Given the description of an element on the screen output the (x, y) to click on. 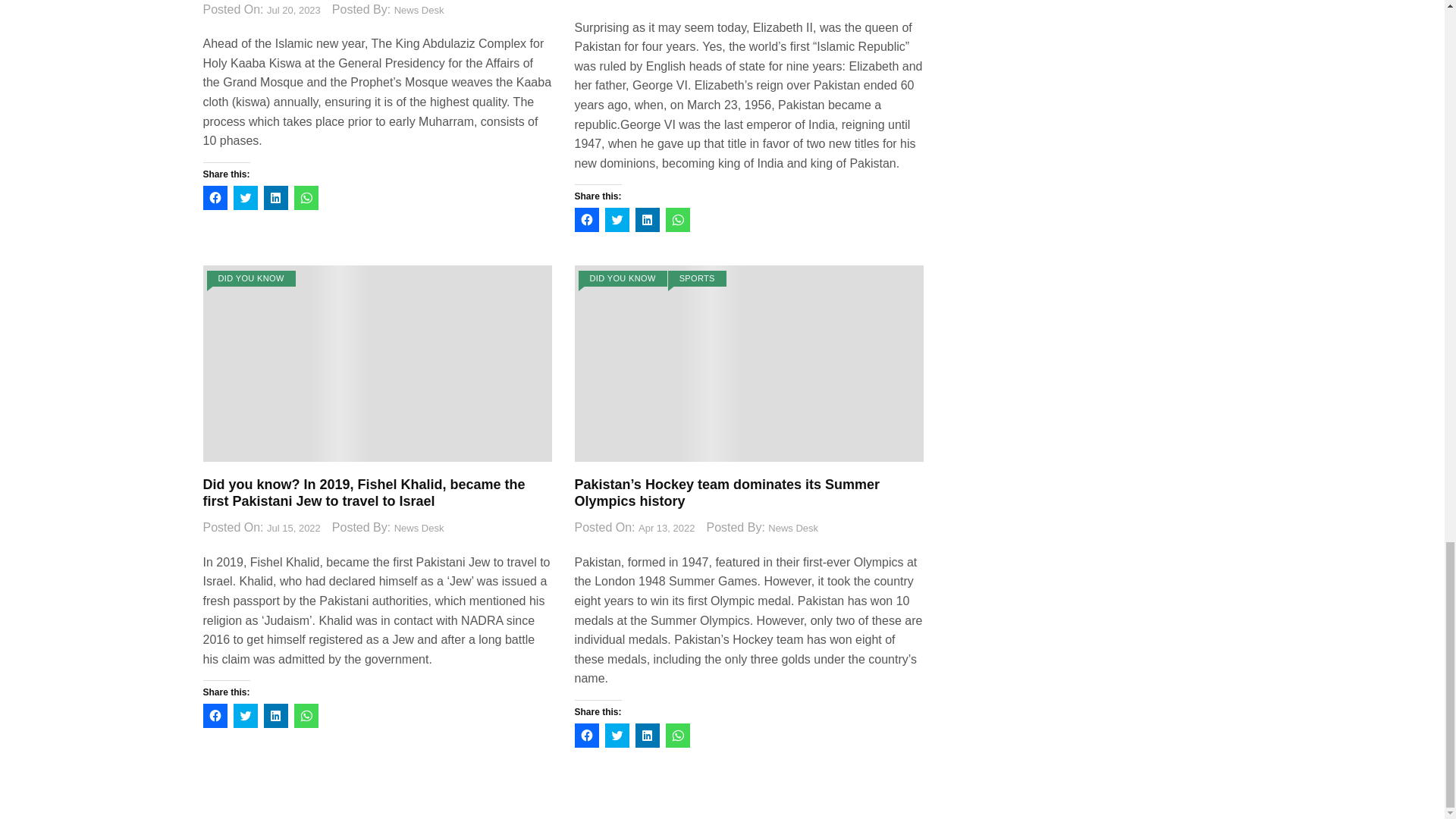
Click to share on LinkedIn (275, 197)
Click to share on WhatsApp (306, 197)
Click to share on Twitter (244, 197)
Click to share on Facebook (215, 197)
